Given the description of an element on the screen output the (x, y) to click on. 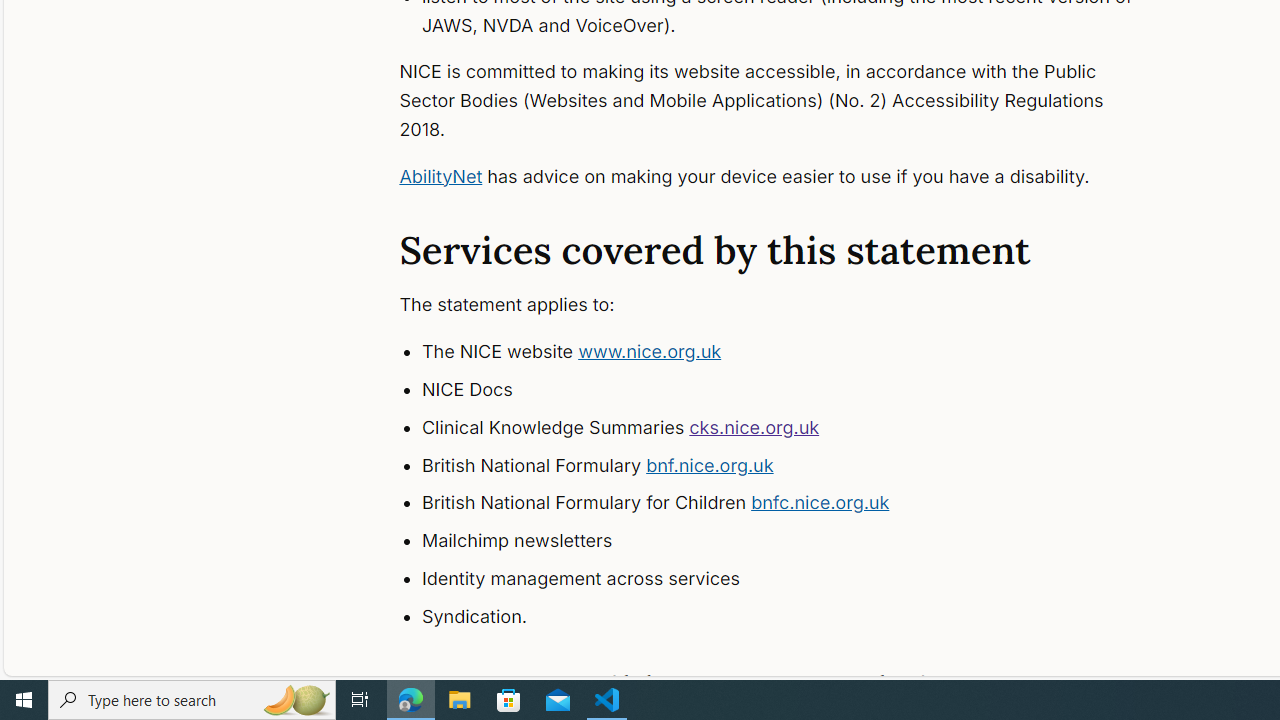
British National Formulary bnf.nice.org.uk (796, 465)
Mailchimp newsletters (796, 541)
www.nice.org.uk (649, 351)
cks.nice.org.uk (754, 426)
bnfc.nice.org.uk (820, 502)
AbilityNet (440, 175)
The NICE website www.nice.org.uk (796, 352)
Clinical Knowledge Summaries cks.nice.org.uk (796, 427)
Syndication. (796, 616)
NICE Docs (796, 389)
bnf.nice.org.uk (710, 464)
British National Formulary for Children bnfc.nice.org.uk (796, 503)
Identity management across services (796, 578)
